Given the description of an element on the screen output the (x, y) to click on. 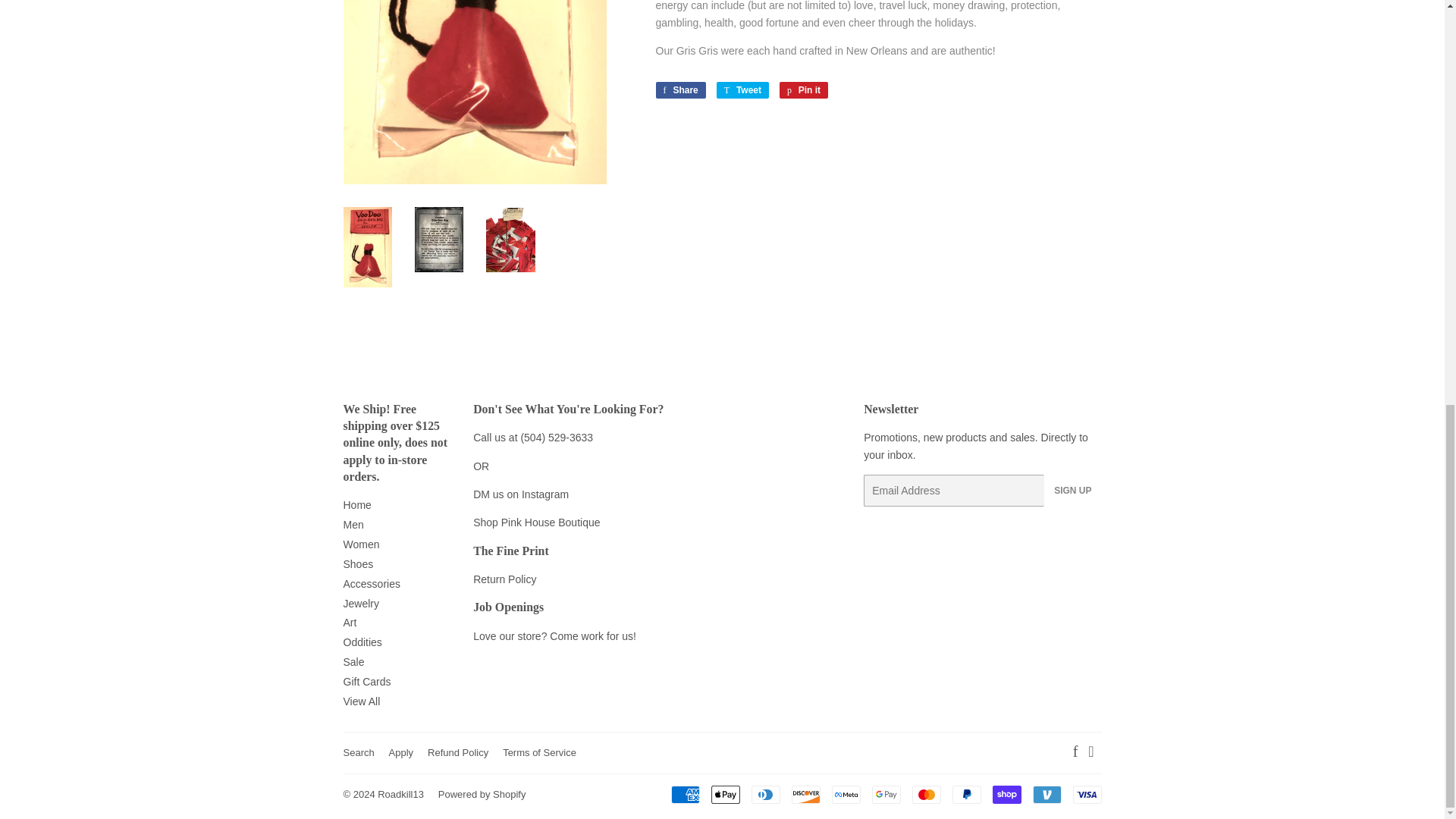
Discover (806, 794)
Share on Facebook (679, 89)
Venmo (1046, 794)
Apple Pay (725, 794)
Shop Pay (1005, 794)
PayPal (966, 794)
Return Policy (504, 579)
American Express (683, 794)
Pin on Pinterest (803, 89)
Google Pay (886, 794)
